Given the description of an element on the screen output the (x, y) to click on. 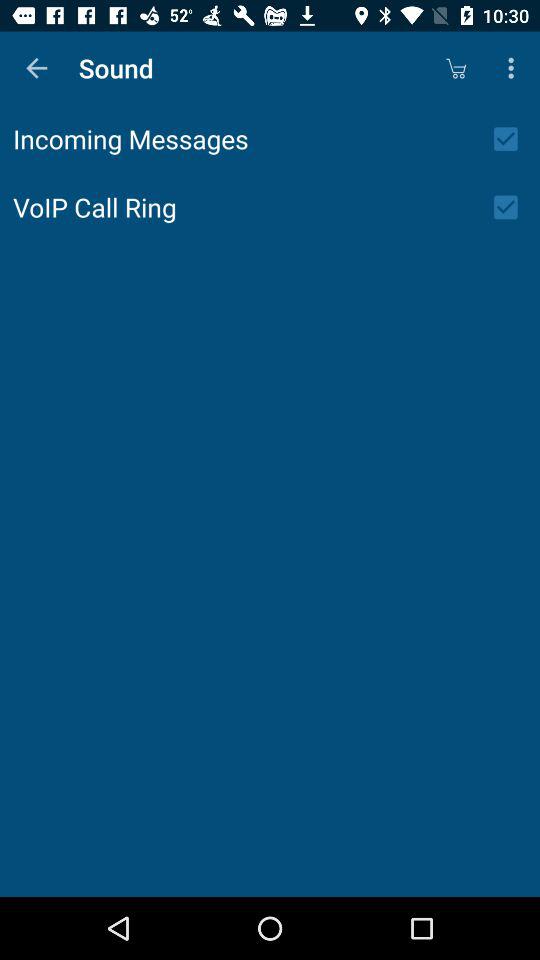
launch the icon next to incoming messages (512, 139)
